Given the description of an element on the screen output the (x, y) to click on. 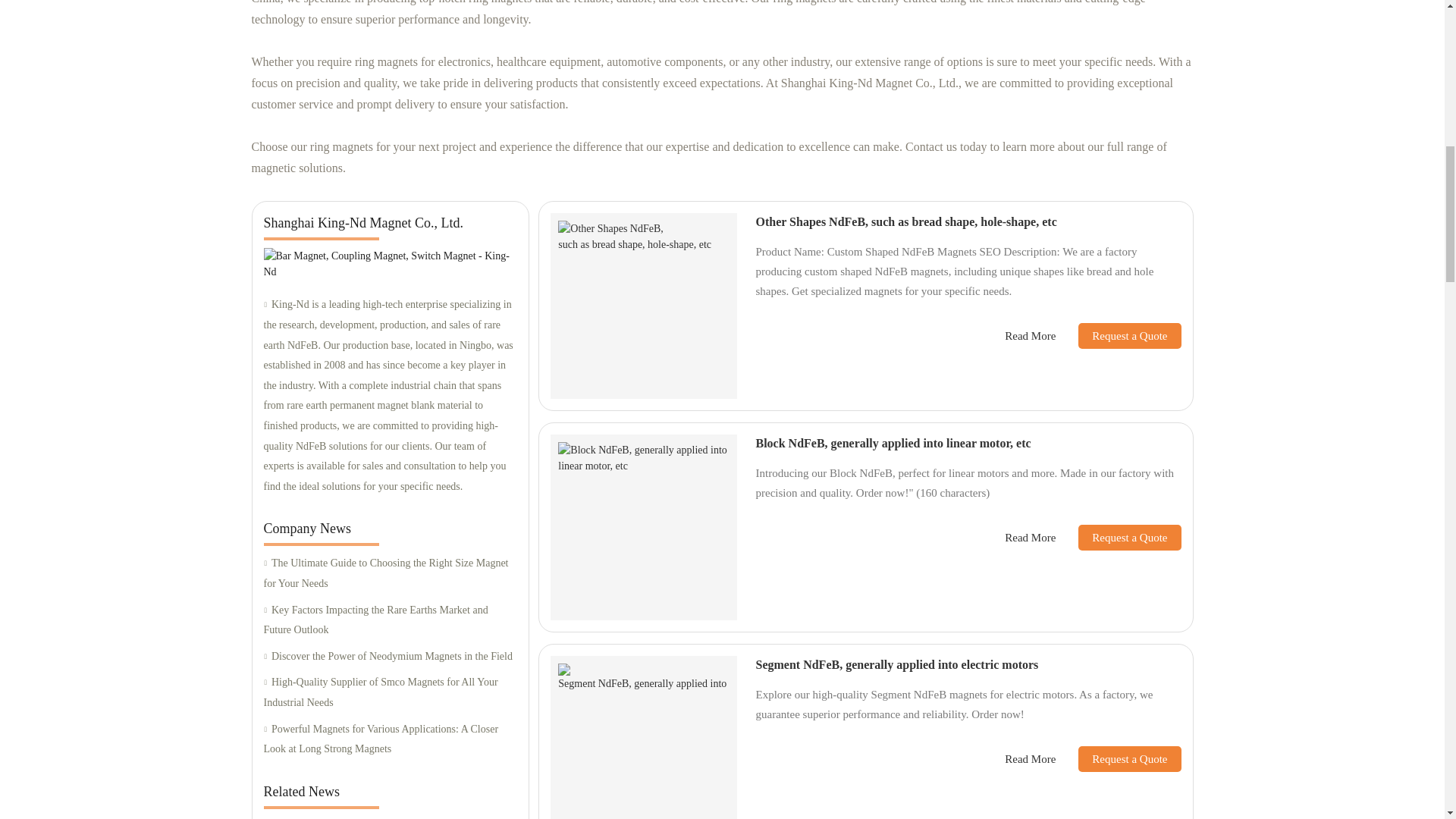
Other Shapes NdFeB, such as bread shape, hole-shape, etc (906, 221)
Block NdFeB, generally applied into linear motor, etc (892, 442)
Request a Quote (1117, 537)
Discover the Power of Neodymium Magnets in the Field (389, 657)
Read More (1029, 759)
Segment NdFeB, generally applied into electric motors (896, 664)
Request a Quote (1117, 335)
Read More (1029, 335)
Read More (1029, 538)
